Given the description of an element on the screen output the (x, y) to click on. 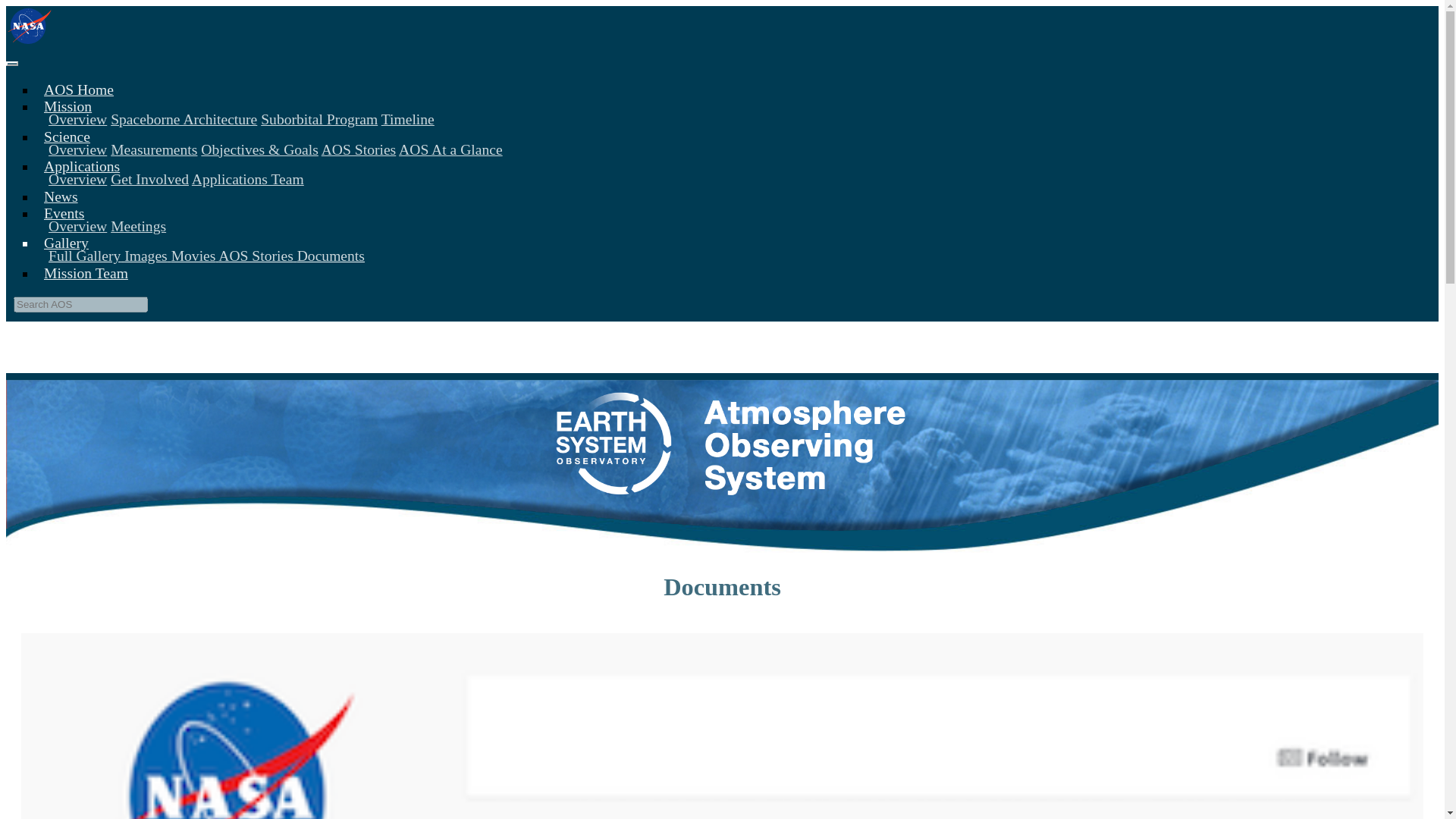
Get Involved (149, 179)
Documents (331, 255)
Science (63, 136)
Meetings (137, 226)
Movies (193, 255)
Overview (77, 149)
Overview (77, 226)
Applications Team (248, 179)
Mission (64, 106)
Overview (77, 119)
Mission Team (82, 273)
Gallery (62, 242)
Events (60, 213)
Timeline (407, 119)
Overview (77, 179)
